Given the description of an element on the screen output the (x, y) to click on. 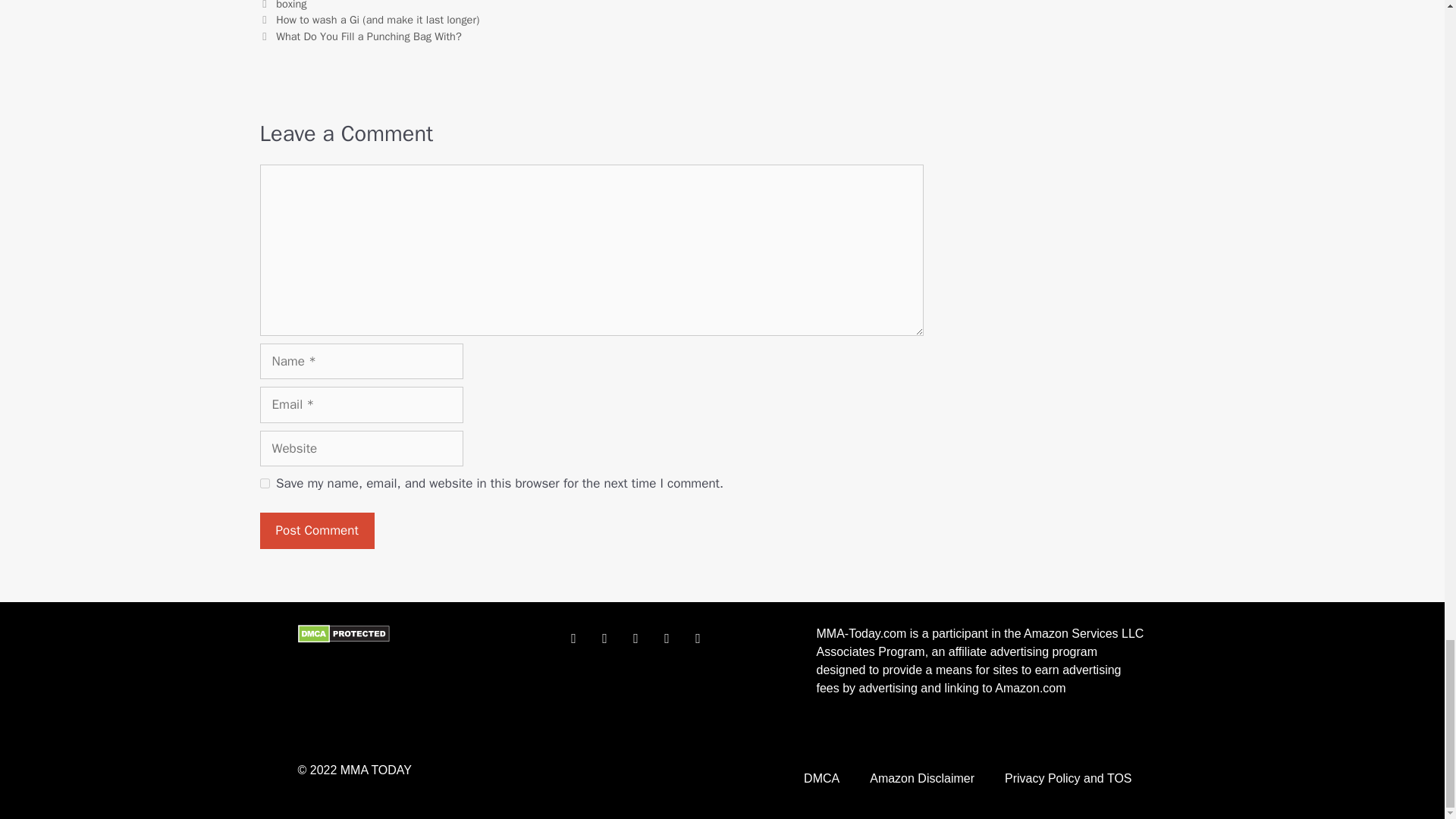
boxing (290, 5)
yes (264, 483)
DMCA.com Protection Status (342, 638)
DMCA (821, 778)
What Do You Fill a Punching Bag With? (368, 36)
Post Comment (316, 530)
Post Comment (316, 530)
